Given the description of an element on the screen output the (x, y) to click on. 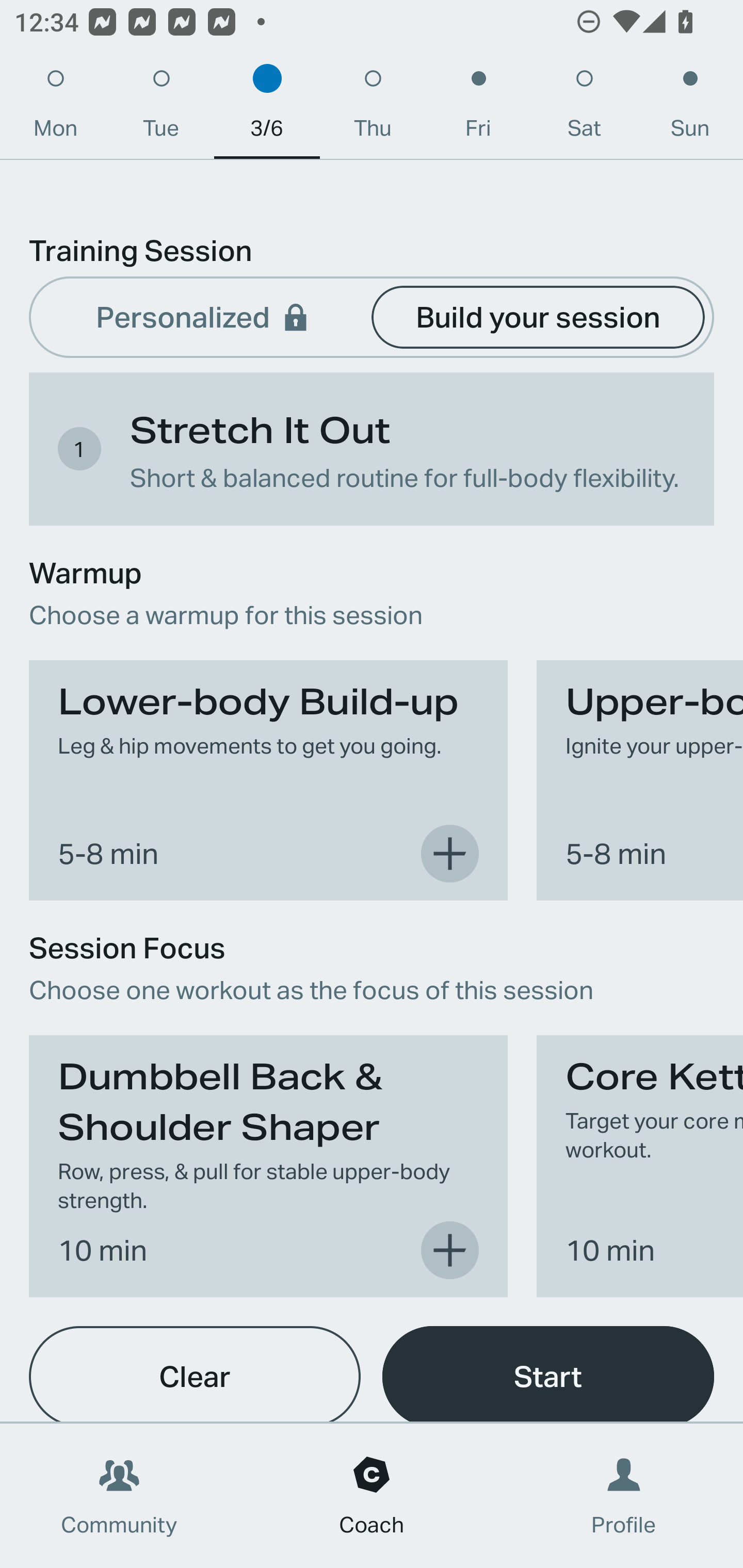
Mon (55, 108)
Tue (160, 108)
3/6 (266, 108)
Thu (372, 108)
Fri (478, 108)
Sat (584, 108)
Sun (690, 108)
Personalized (204, 315)
Build your session (538, 315)
Clear (194, 1374)
Start (548, 1374)
Community (119, 1495)
Profile (624, 1495)
